Given the description of an element on the screen output the (x, y) to click on. 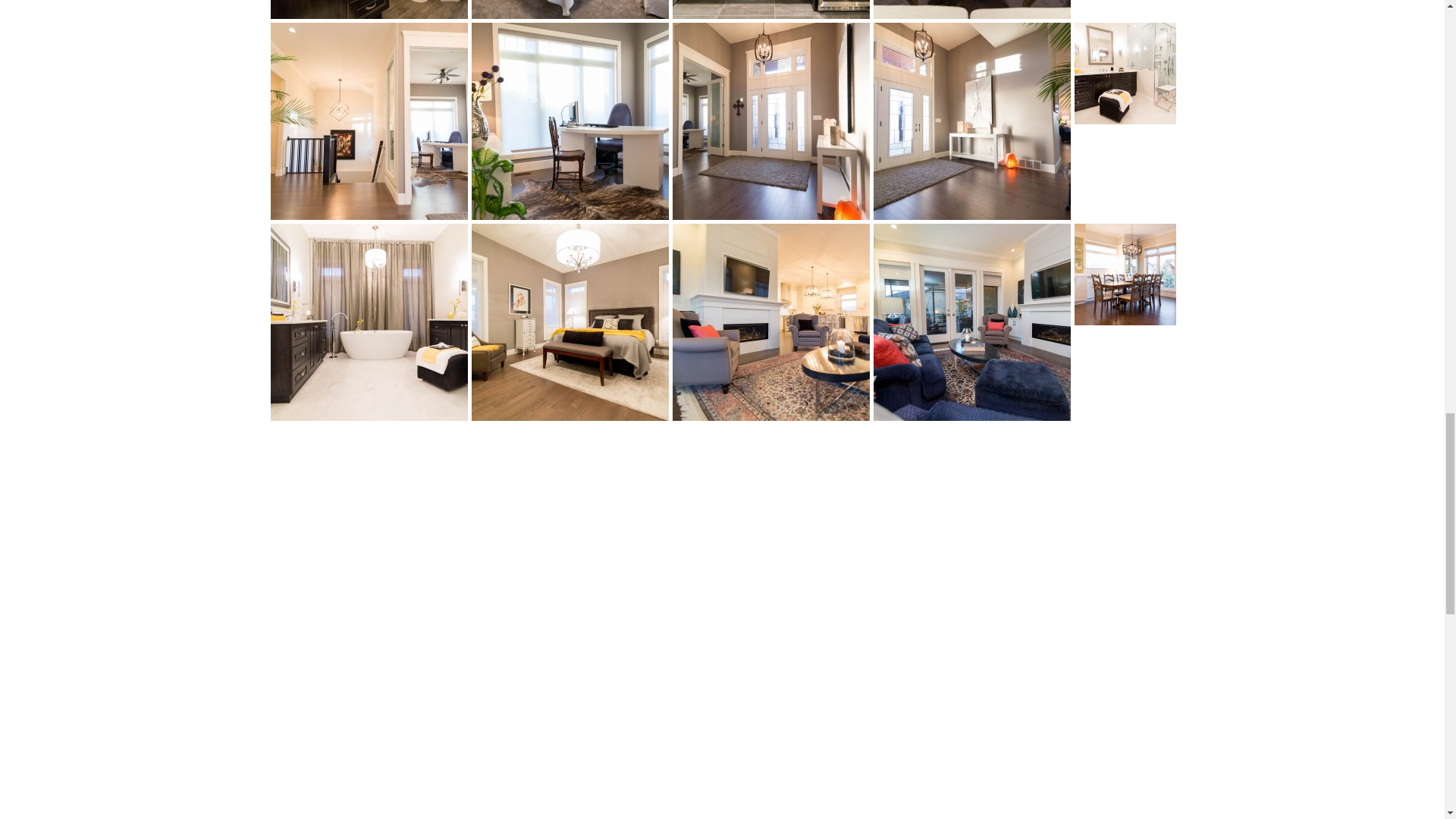
022 (971, 9)
023 (770, 9)
024 (569, 9)
025 (368, 9)
020 (368, 121)
